Given the description of an element on the screen output the (x, y) to click on. 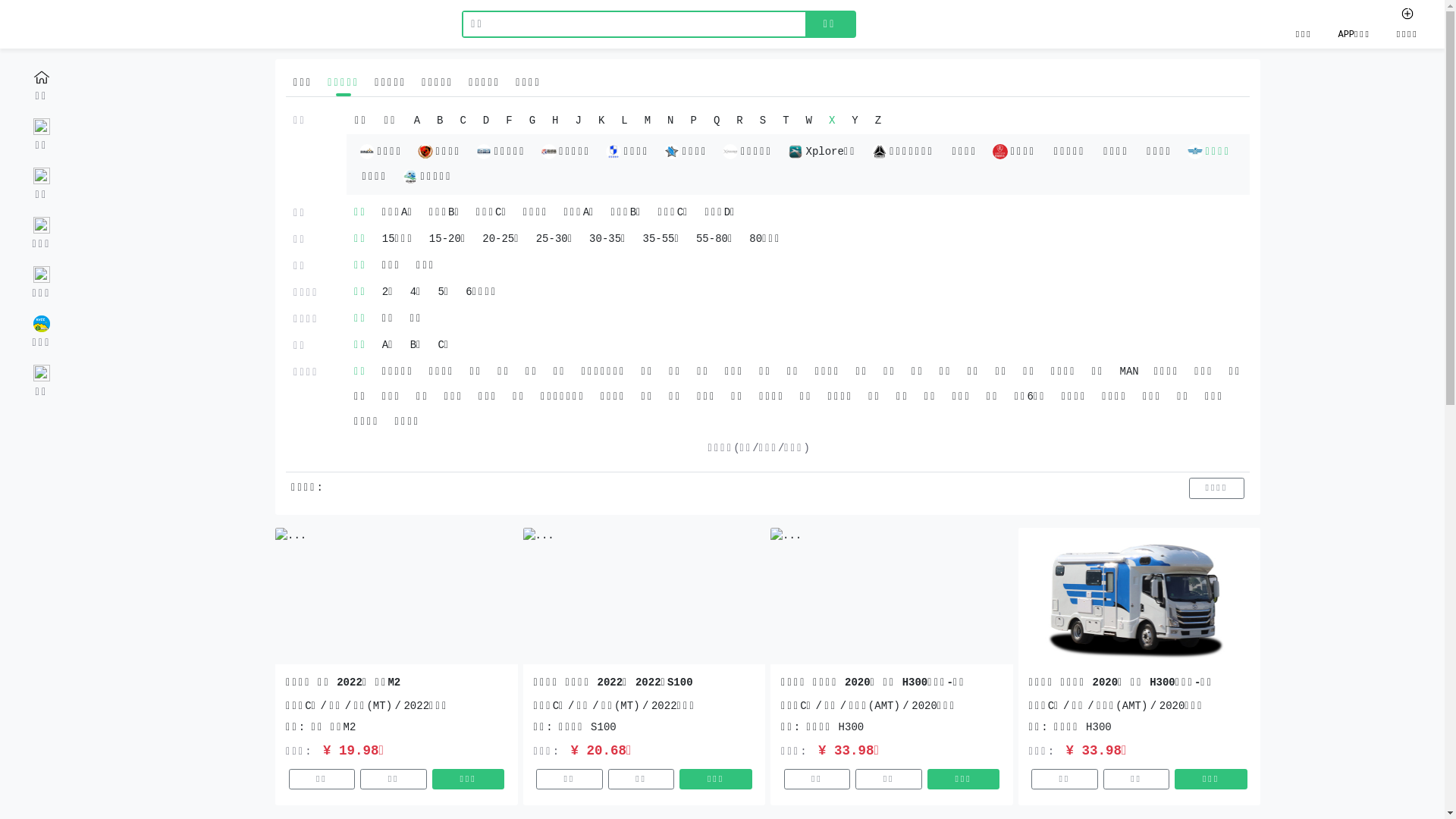
MAN Element type: text (1128, 371)
